Given the description of an element on the screen output the (x, y) to click on. 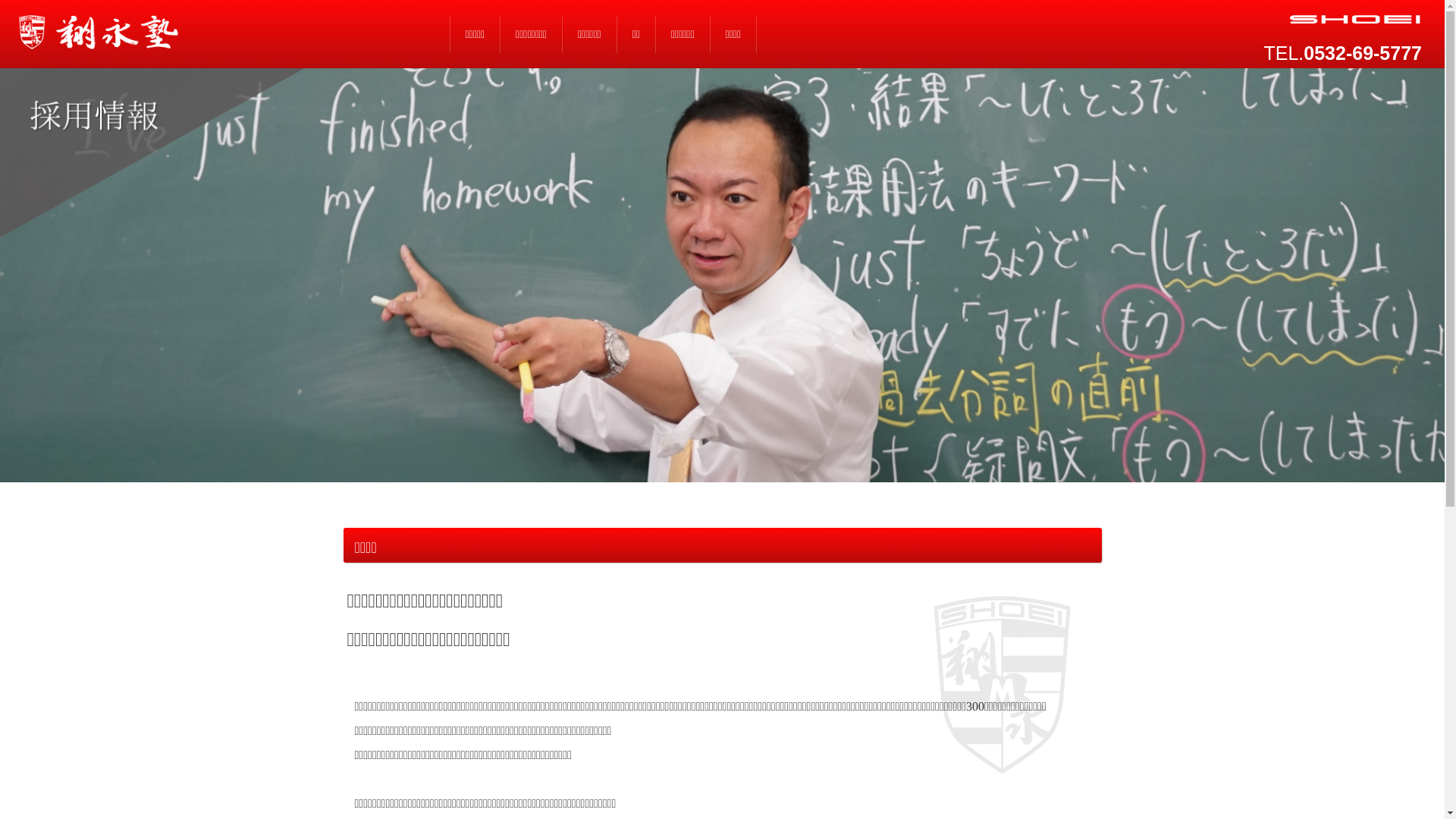
0532-69-5777 Element type: text (1362, 52)
